Given the description of an element on the screen output the (x, y) to click on. 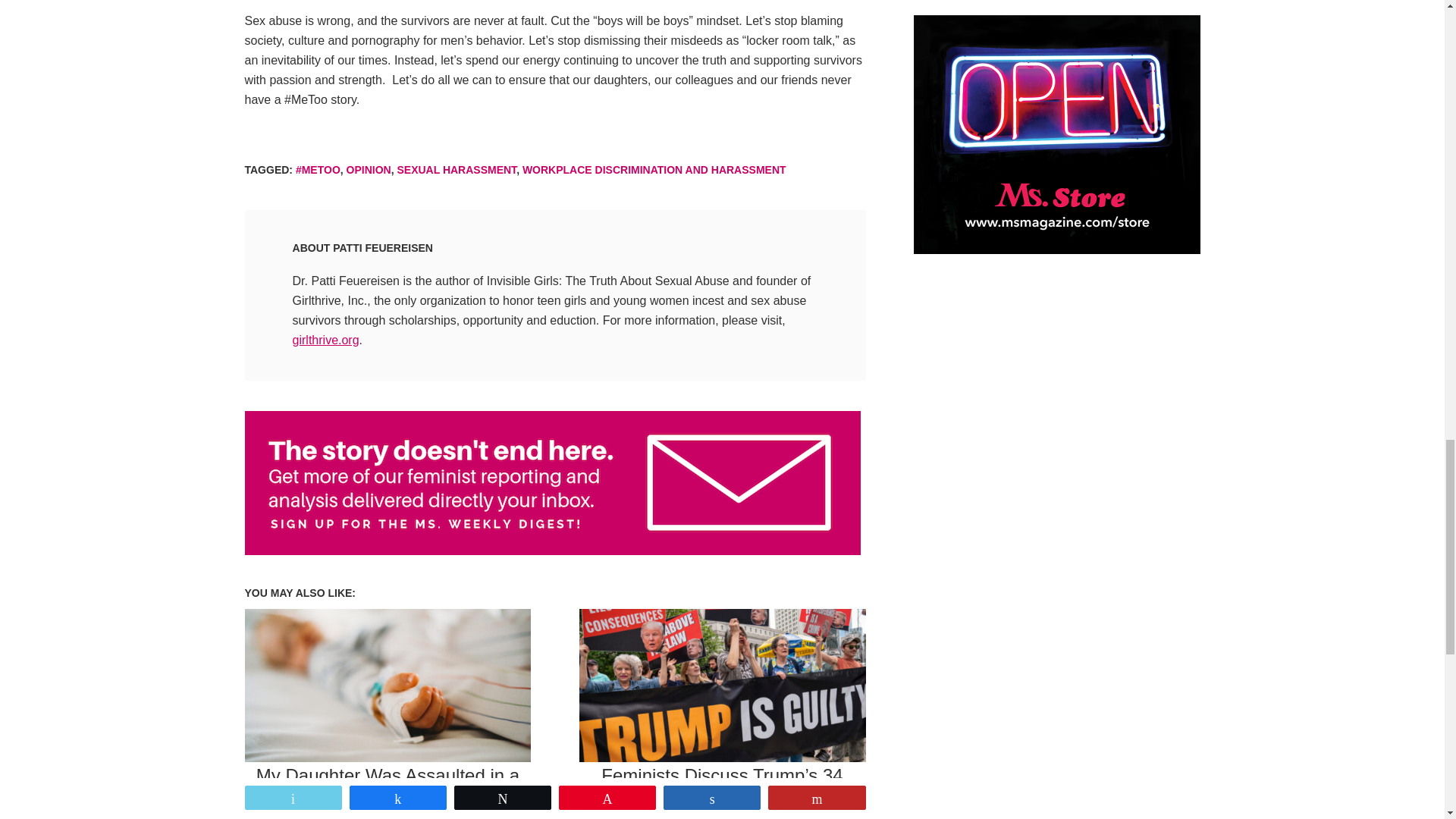
WORKPLACE DISCRIMINATION AND HARASSMENT (654, 169)
Posts by Patti Feuereisen (382, 247)
SEXUAL HARASSMENT (456, 169)
OPINION (368, 169)
